Given the description of an element on the screen output the (x, y) to click on. 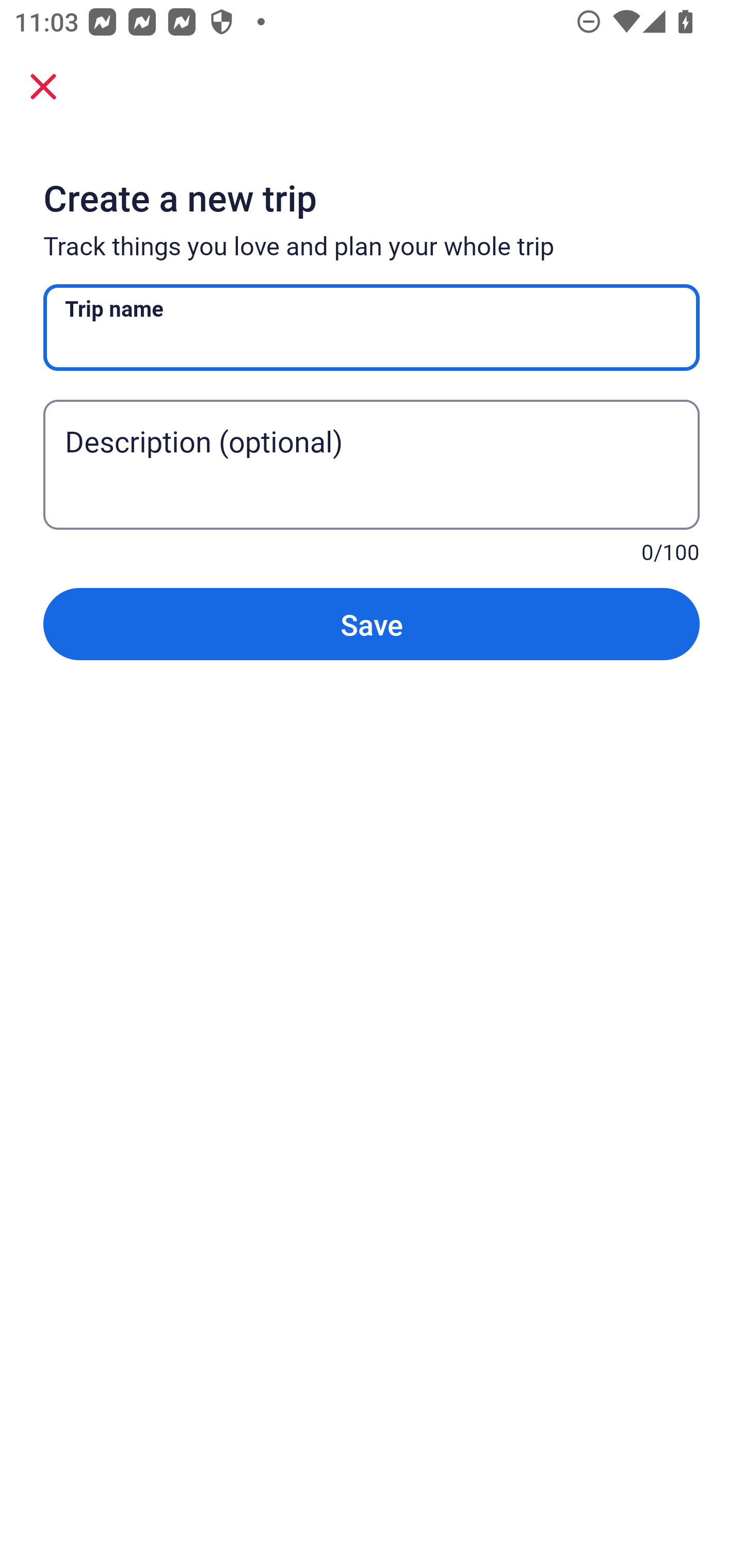
Close (43, 86)
Trip name (371, 327)
Save Button Save (371, 624)
